Given the description of an element on the screen output the (x, y) to click on. 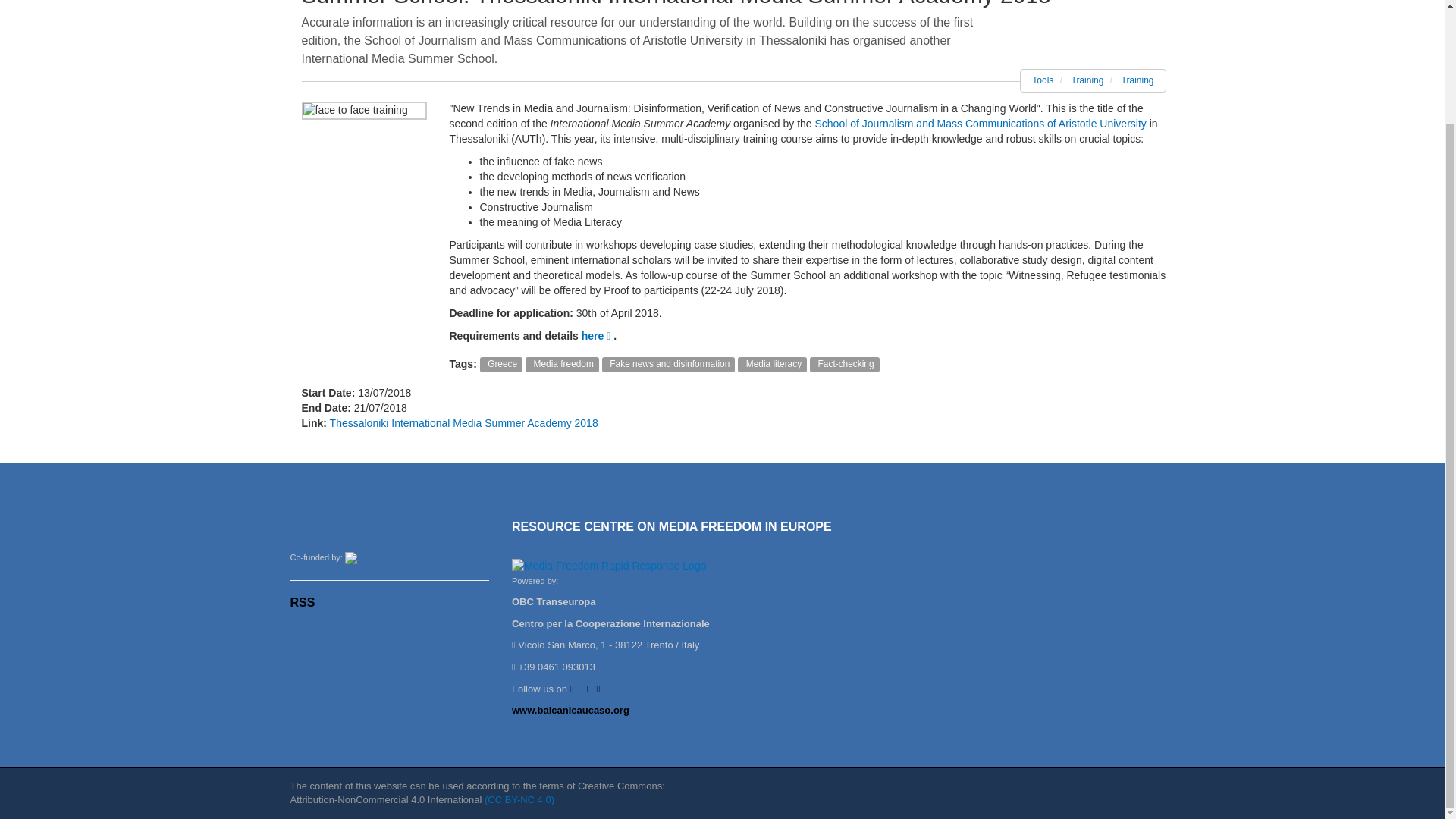
Link a here (596, 336)
here (596, 336)
Greece (501, 363)
Tools (1042, 80)
face to face training (363, 110)
Fake news and disinformation (668, 363)
Thessaloniki International Media Summer Academy 2018 (464, 422)
RESOURCE CENTRE ON MEDIA FREEDOM IN EUROPE (671, 526)
www.balcanicaucaso.org (570, 709)
